Given the description of an element on the screen output the (x, y) to click on. 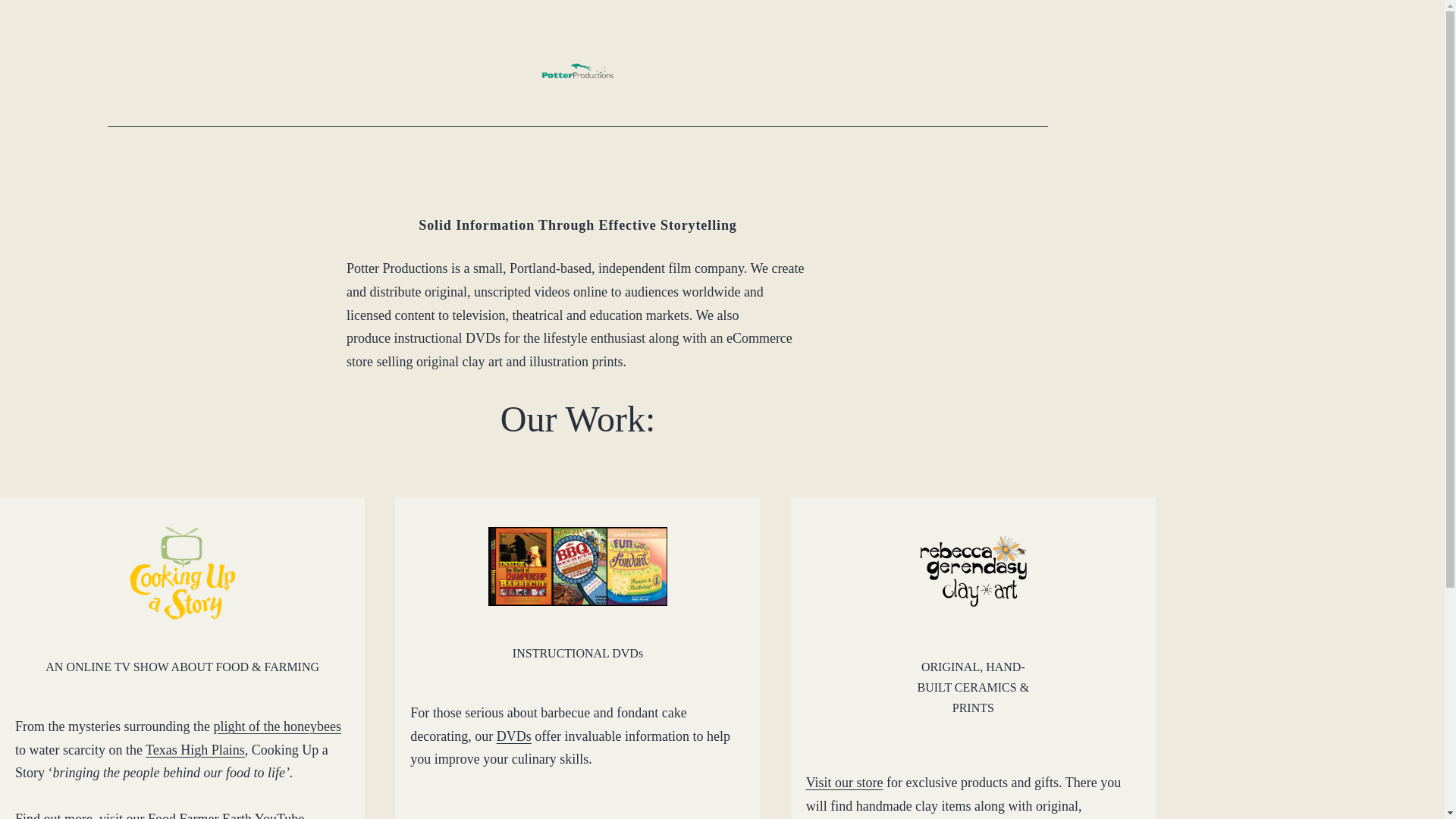
Visit our store (844, 782)
DVDs (513, 735)
Texas High Plains (194, 749)
plight of the honeybees (276, 726)
Food Farmer Earth (199, 815)
